Given the description of an element on the screen output the (x, y) to click on. 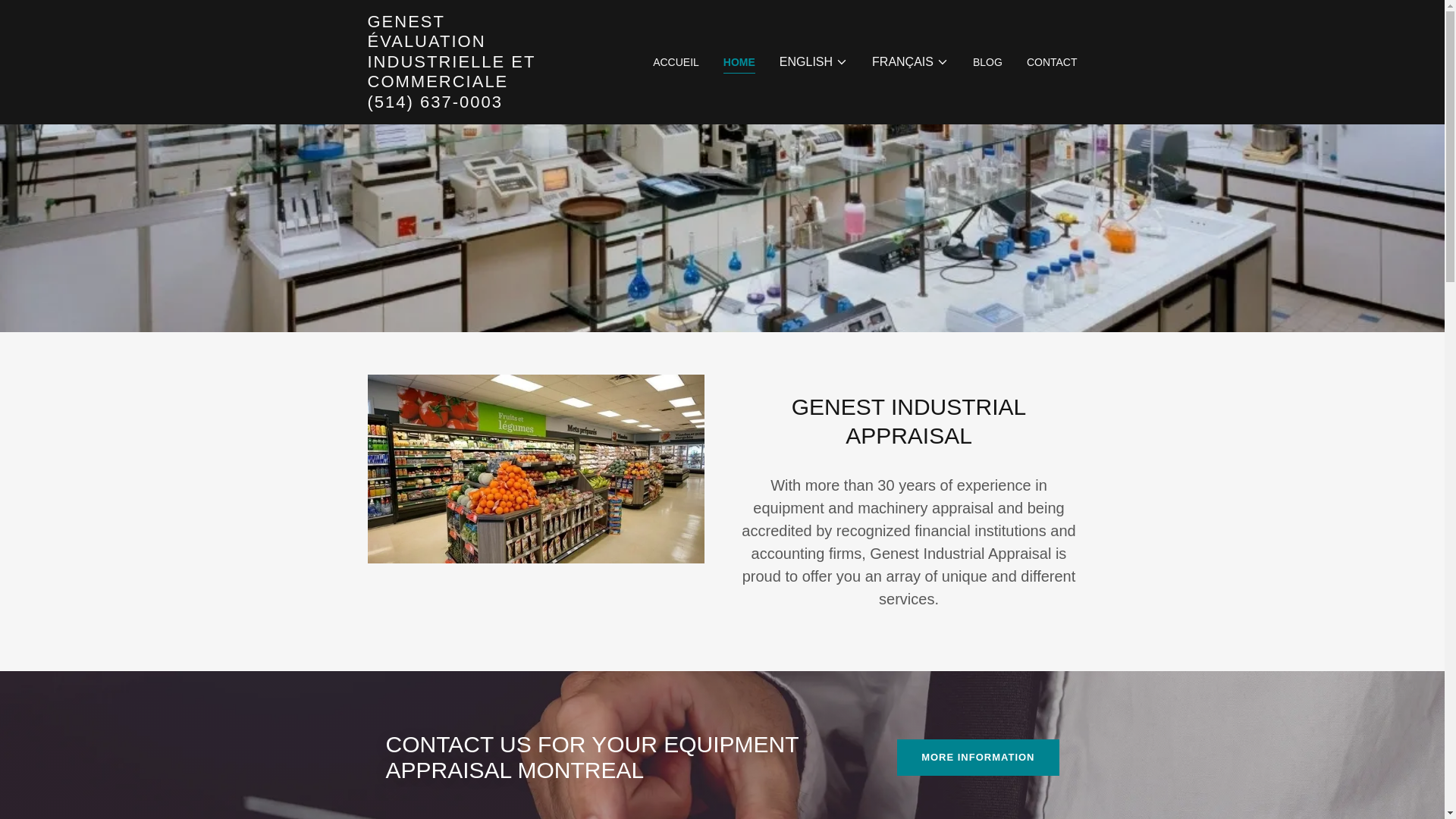
BLOG (987, 62)
HOME (739, 63)
ACCUEIL (675, 62)
CONTACT (1051, 62)
ENGLISH (812, 62)
